Given the description of an element on the screen output the (x, y) to click on. 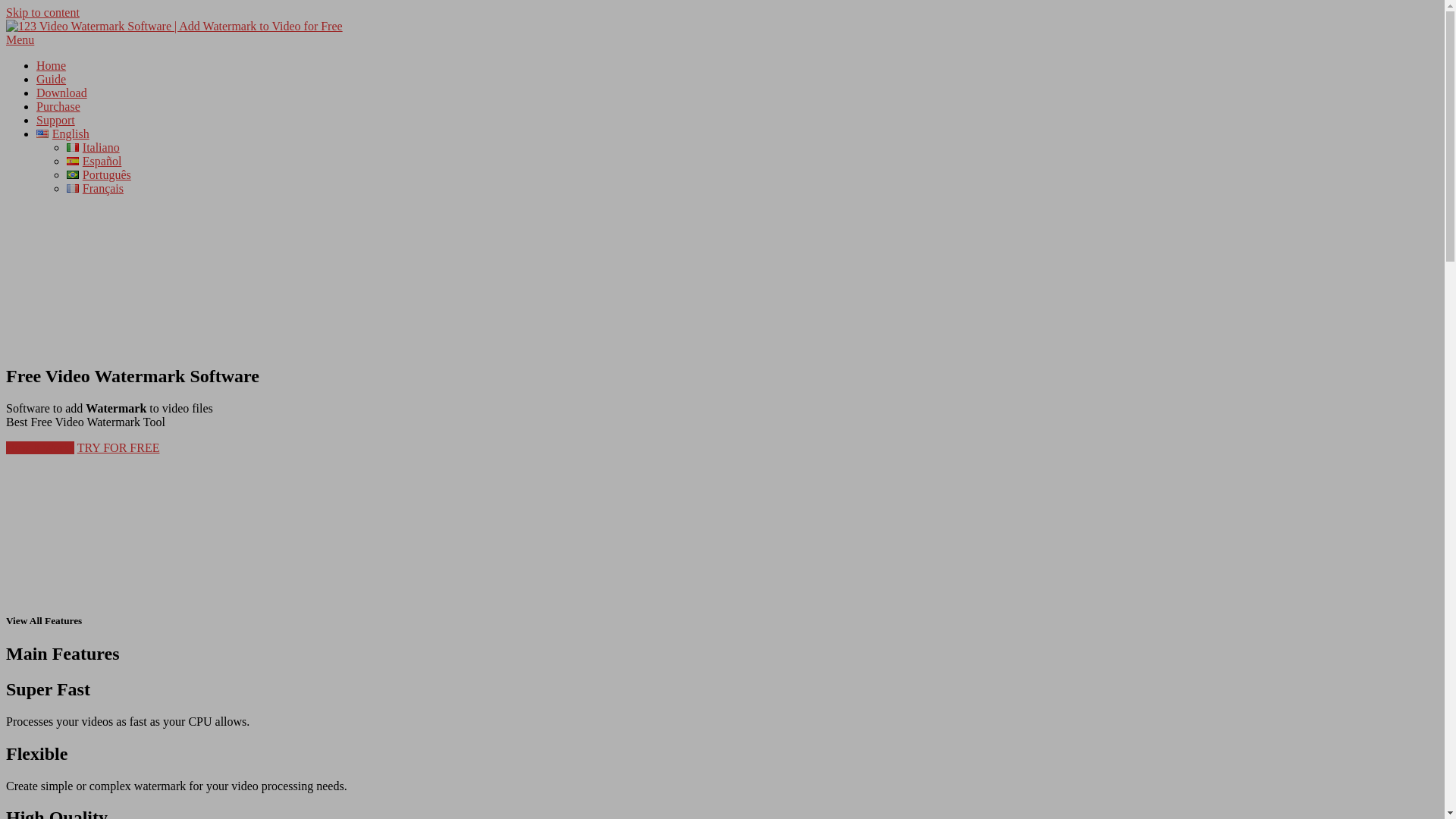
English Element type: text (69, 133)
How It Works Element type: text (40, 447)
Home Element type: text (50, 65)
Skip to content Element type: text (42, 12)
Purchase Element type: text (58, 106)
Download Element type: text (61, 92)
TRY FOR FREE Element type: text (118, 447)
Guide Element type: text (50, 78)
Italiano Element type: text (92, 147)
Support Element type: text (55, 119)
Menu Element type: text (20, 39)
